Given the description of an element on the screen output the (x, y) to click on. 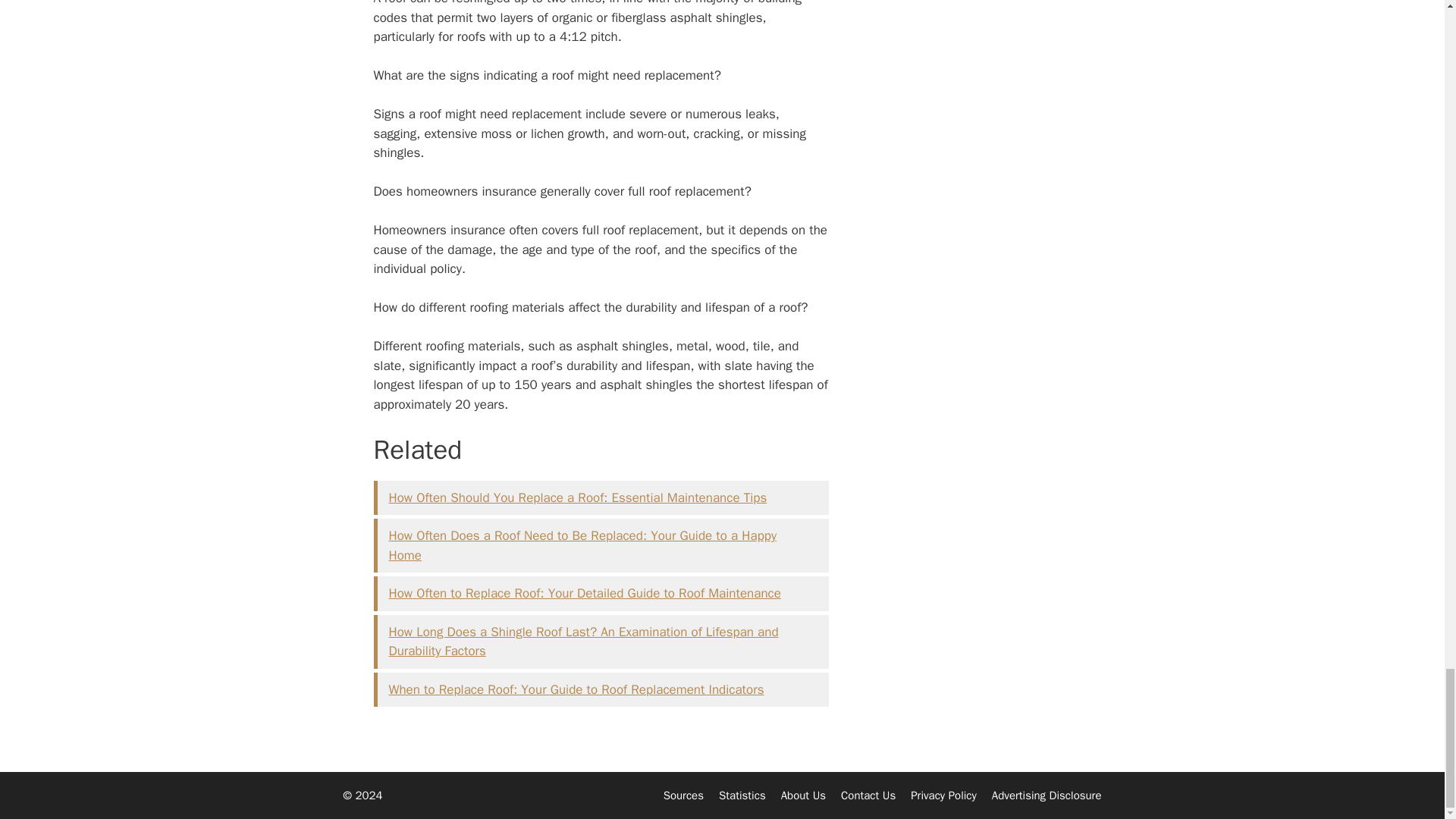
Sources (683, 795)
Contact Us (868, 795)
Statistics (742, 795)
Advertising Disclosure (1046, 795)
Privacy Policy (943, 795)
